Given the description of an element on the screen output the (x, y) to click on. 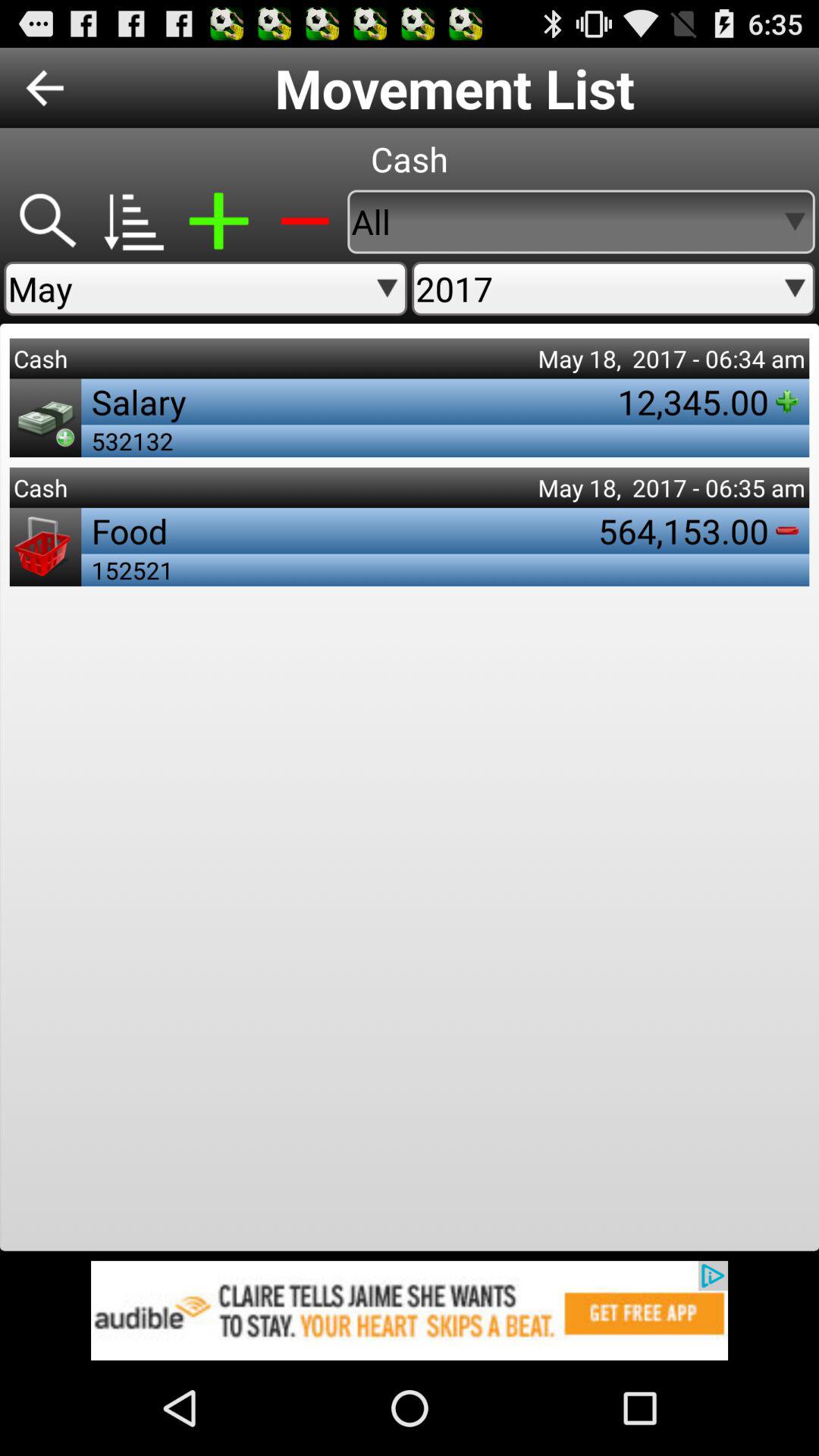
delete the record (304, 221)
